Given the description of an element on the screen output the (x, y) to click on. 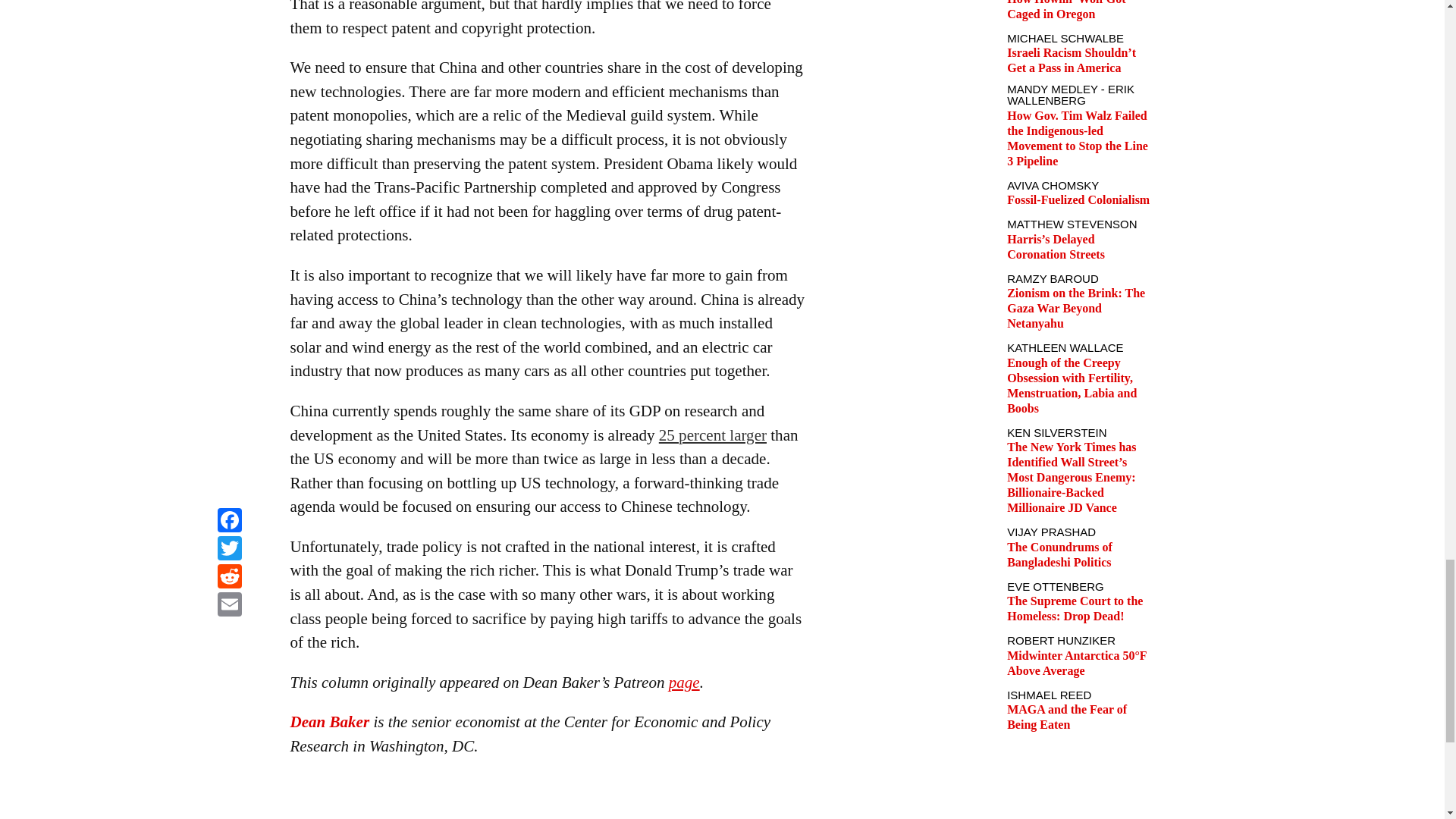
Dean Baker (329, 721)
25 percent larger (713, 434)
page (684, 682)
